Given the description of an element on the screen output the (x, y) to click on. 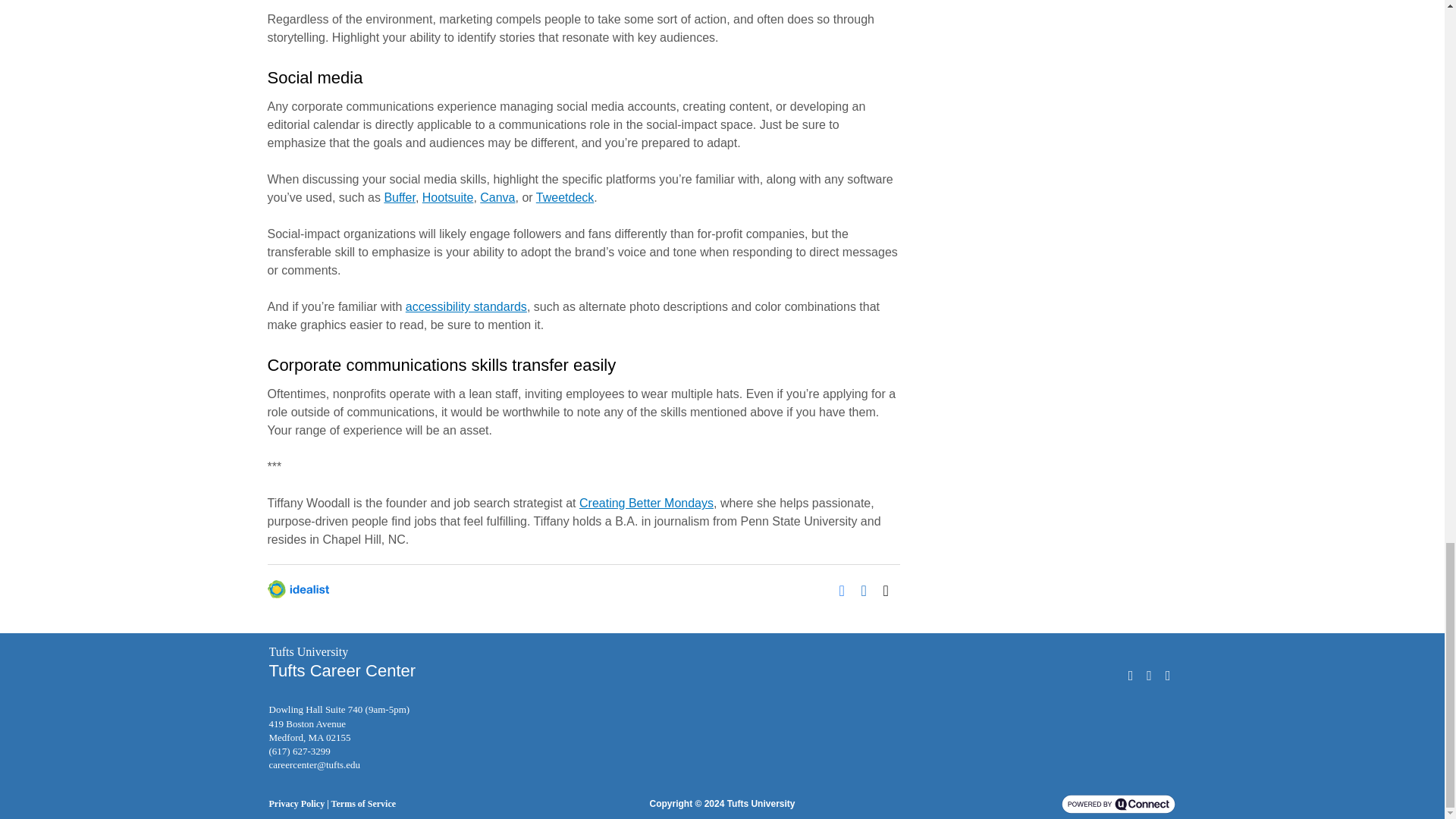
Click to share on LinkedIn (868, 588)
Powered by Idealist Careers (297, 588)
Click to share on Twitter (889, 588)
Click to share on Facebook (846, 588)
